Given the description of an element on the screen output the (x, y) to click on. 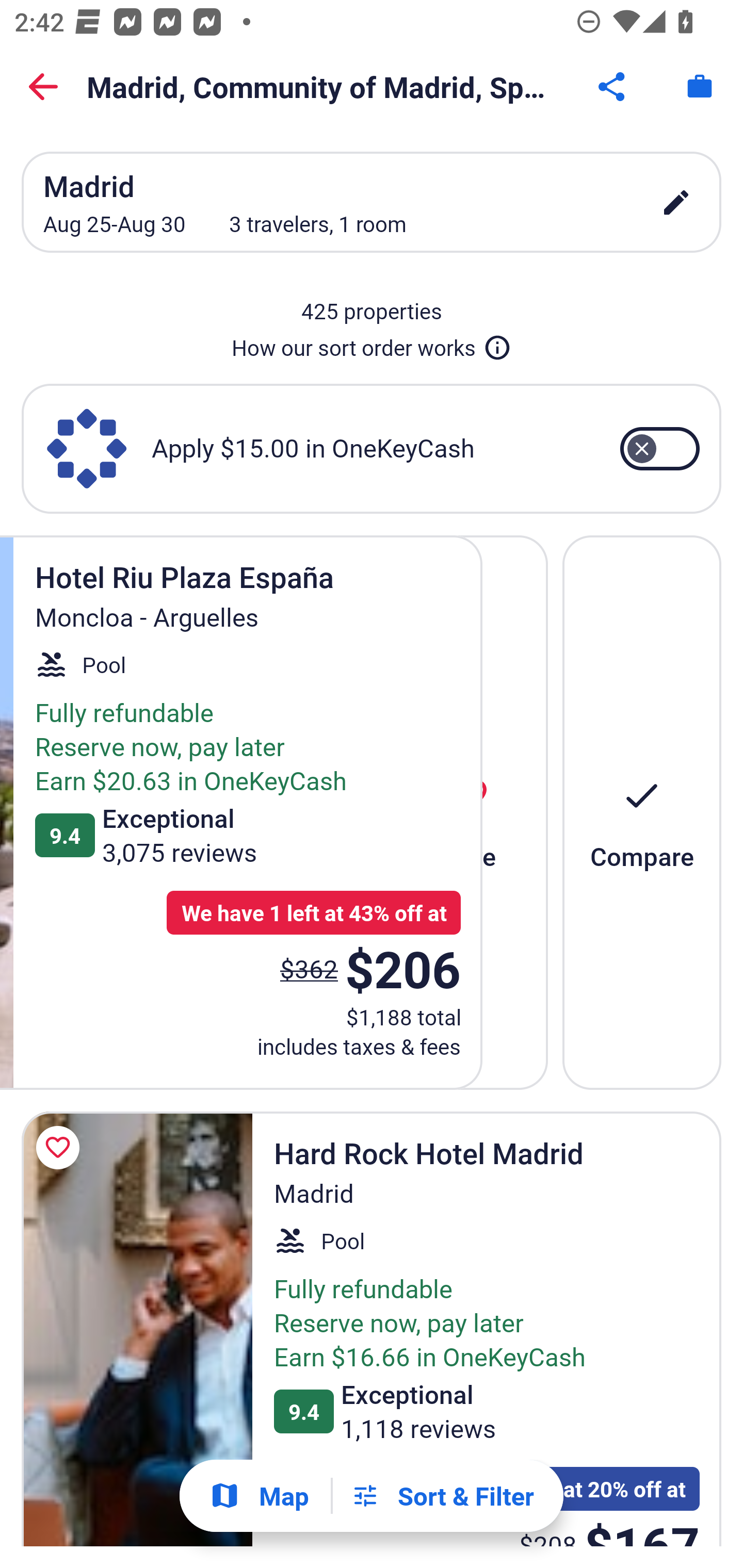
Back (43, 86)
Share Button (612, 86)
Trips. Button (699, 86)
Madrid Aug 25-Aug 30 3 travelers, 1 room edit (371, 202)
How our sort order works (371, 344)
Save Hard Rock Hotel Madrid to a trip (61, 1147)
Hard Rock Hotel Madrid (136, 1328)
Filters Sort & Filter Filters Button (442, 1495)
Show map Map Show map Button (258, 1495)
